Given the description of an element on the screen output the (x, y) to click on. 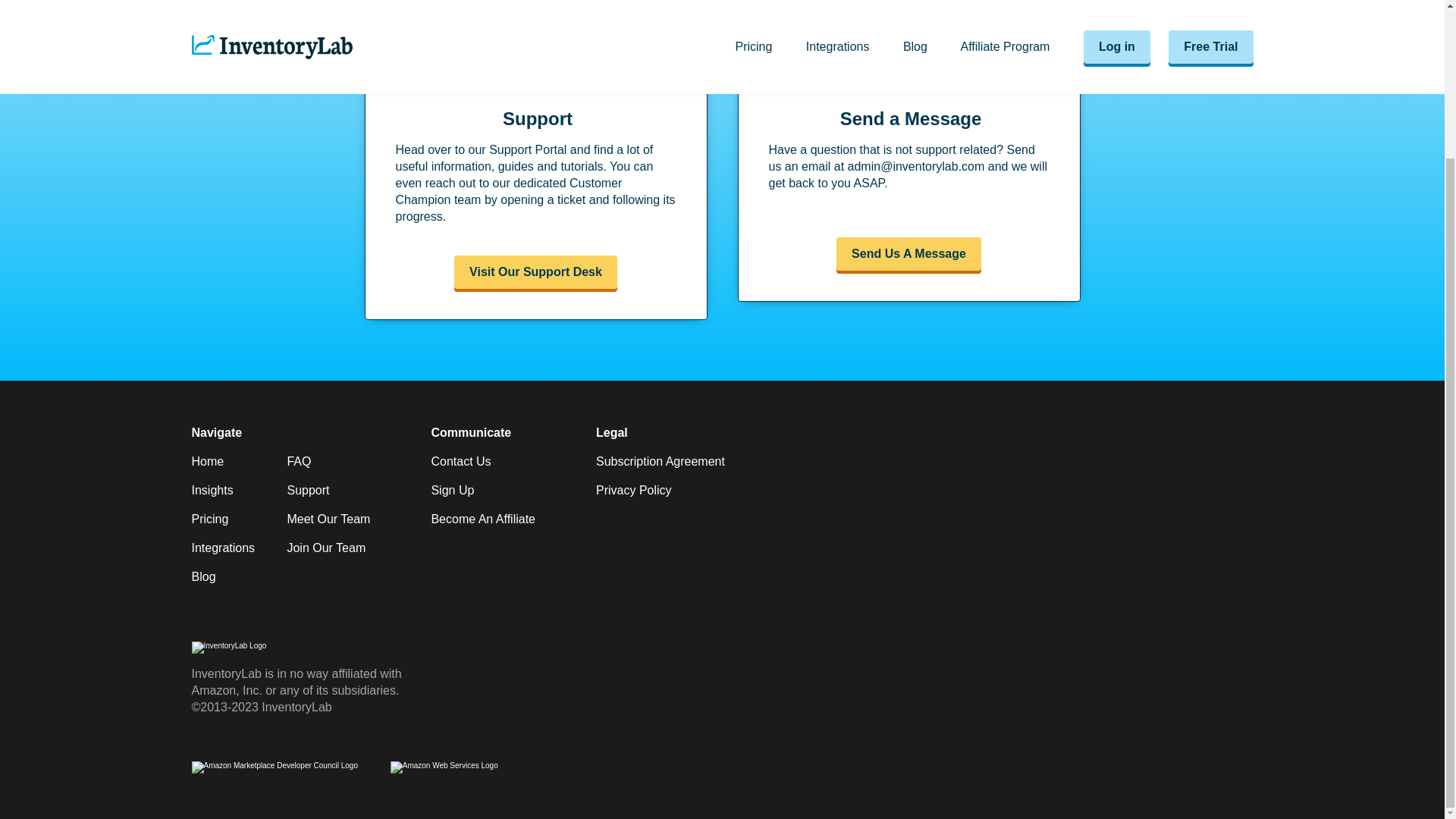
FAQ (298, 461)
Pricing (209, 519)
Visit Our Support Desk (535, 272)
Insights (211, 490)
Visit Our Support Desk (536, 272)
Send Us A Message (908, 254)
Join Our Team (325, 548)
Send Us A Message (908, 254)
Blog (202, 576)
Become An Affiliate (482, 519)
